Given the description of an element on the screen output the (x, y) to click on. 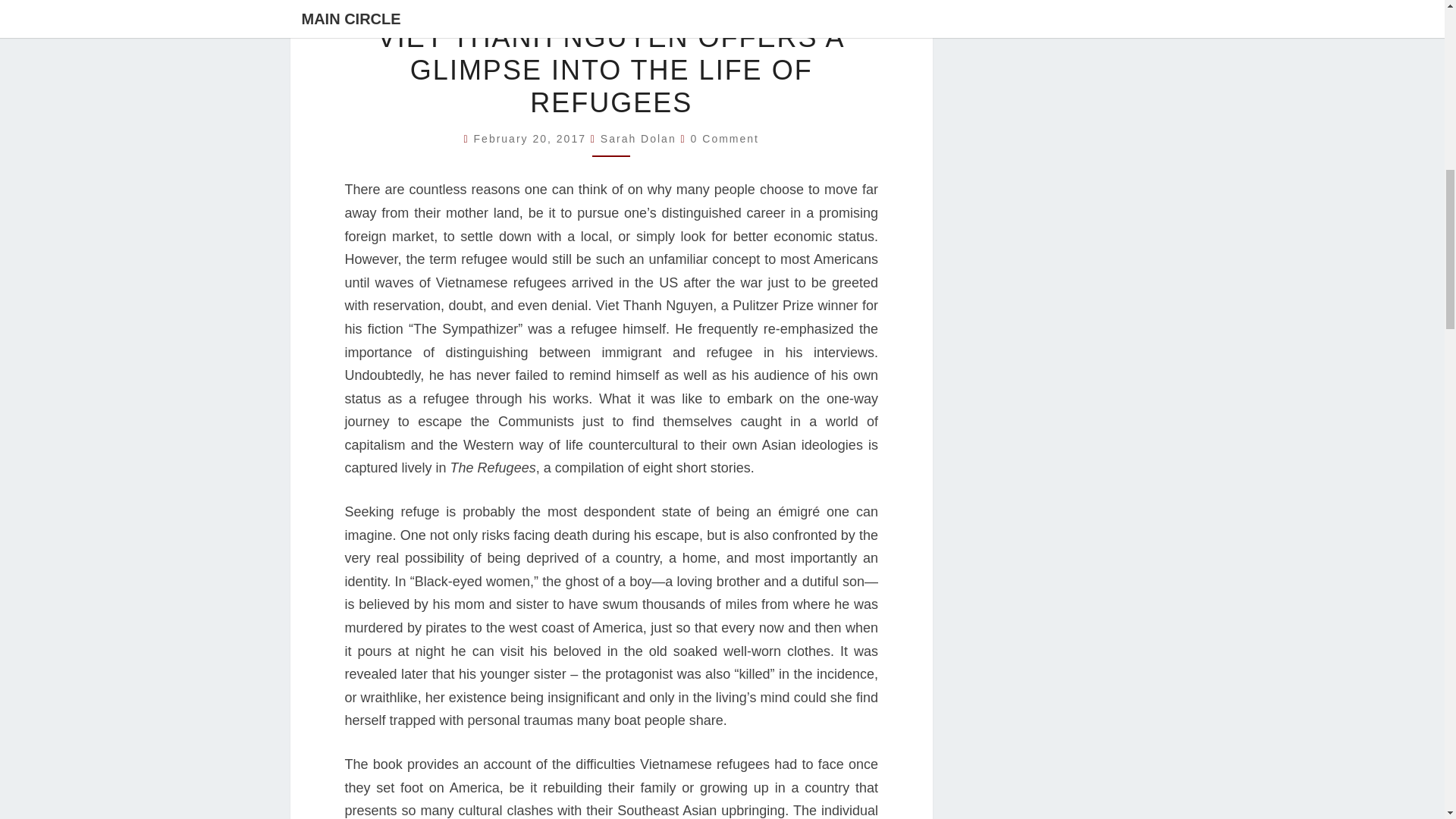
February 20, 2017 (532, 138)
Sarah Dolan (638, 138)
0 Comment (724, 138)
View all posts by Sarah Dolan (638, 138)
8:00 am (532, 138)
